Given the description of an element on the screen output the (x, y) to click on. 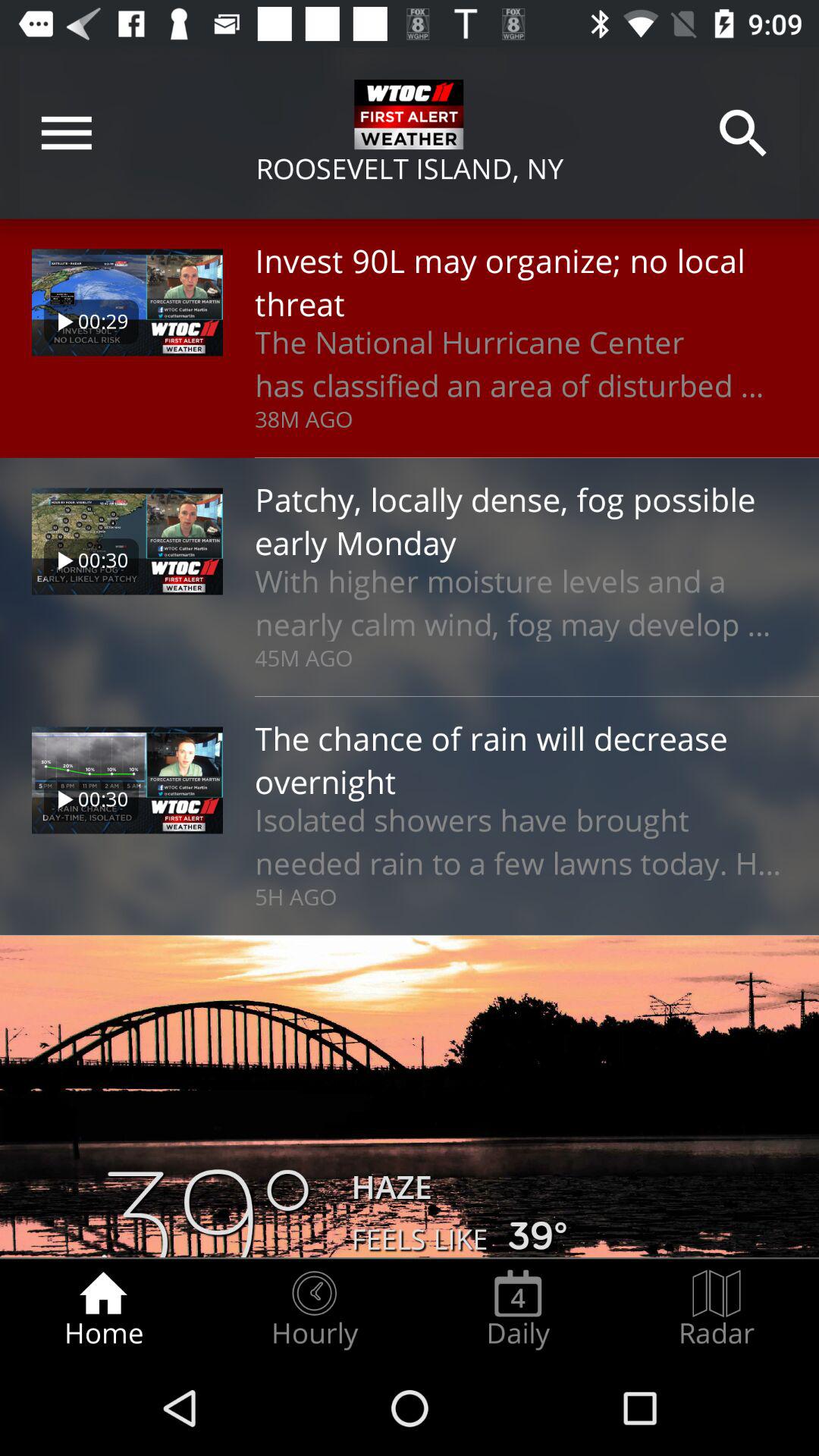
tap the radio button to the right of the hourly (518, 1309)
